Given the description of an element on the screen output the (x, y) to click on. 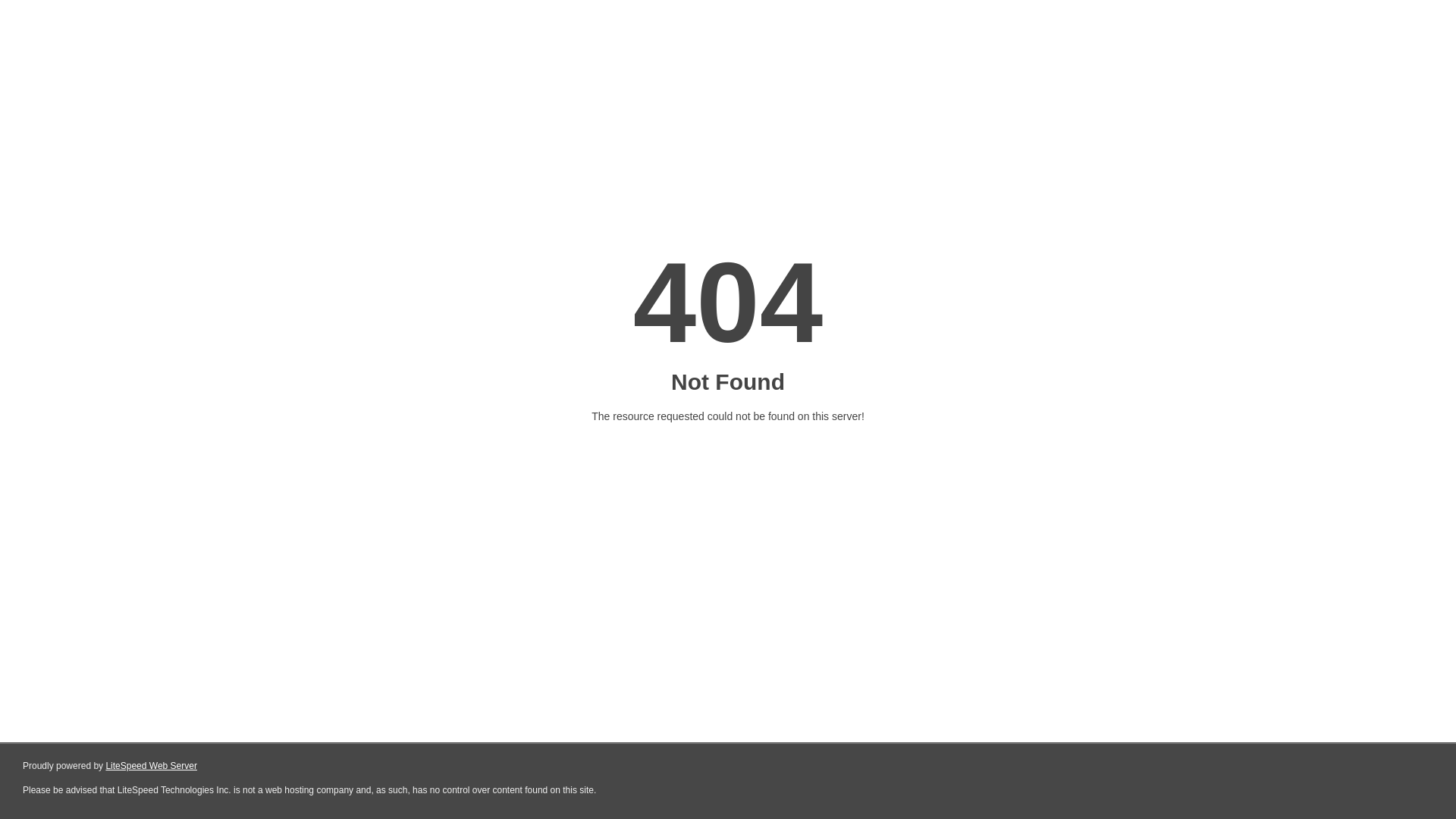
LiteSpeed Web Server Element type: text (151, 765)
